Given the description of an element on the screen output the (x, y) to click on. 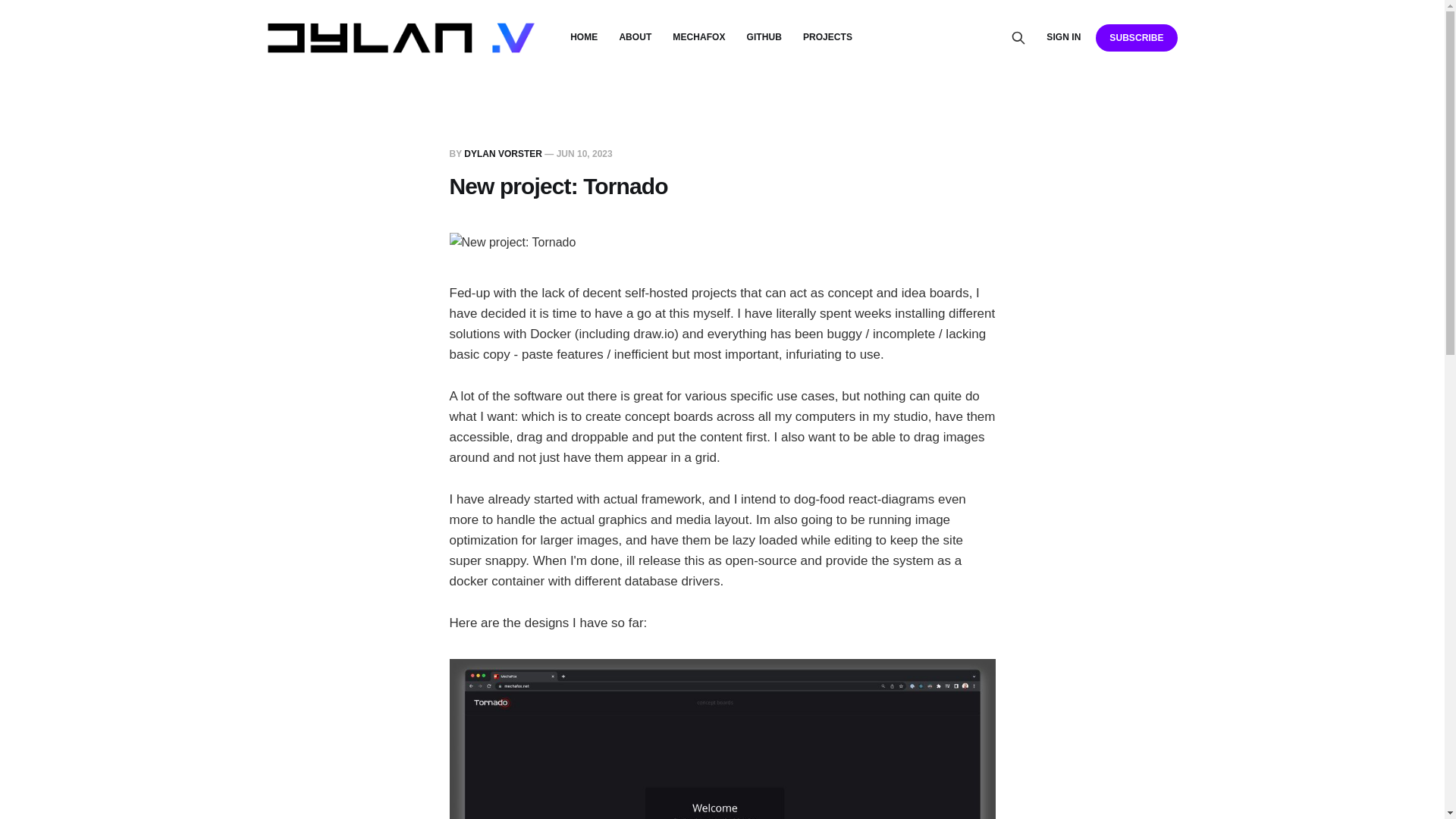
DYLAN VORSTER (502, 153)
GITHUB (763, 36)
HOME (583, 36)
SIGN IN (1063, 37)
MECHAFOX (698, 36)
SUBSCRIBE (1136, 37)
ABOUT (634, 36)
PROJECTS (827, 36)
